Given the description of an element on the screen output the (x, y) to click on. 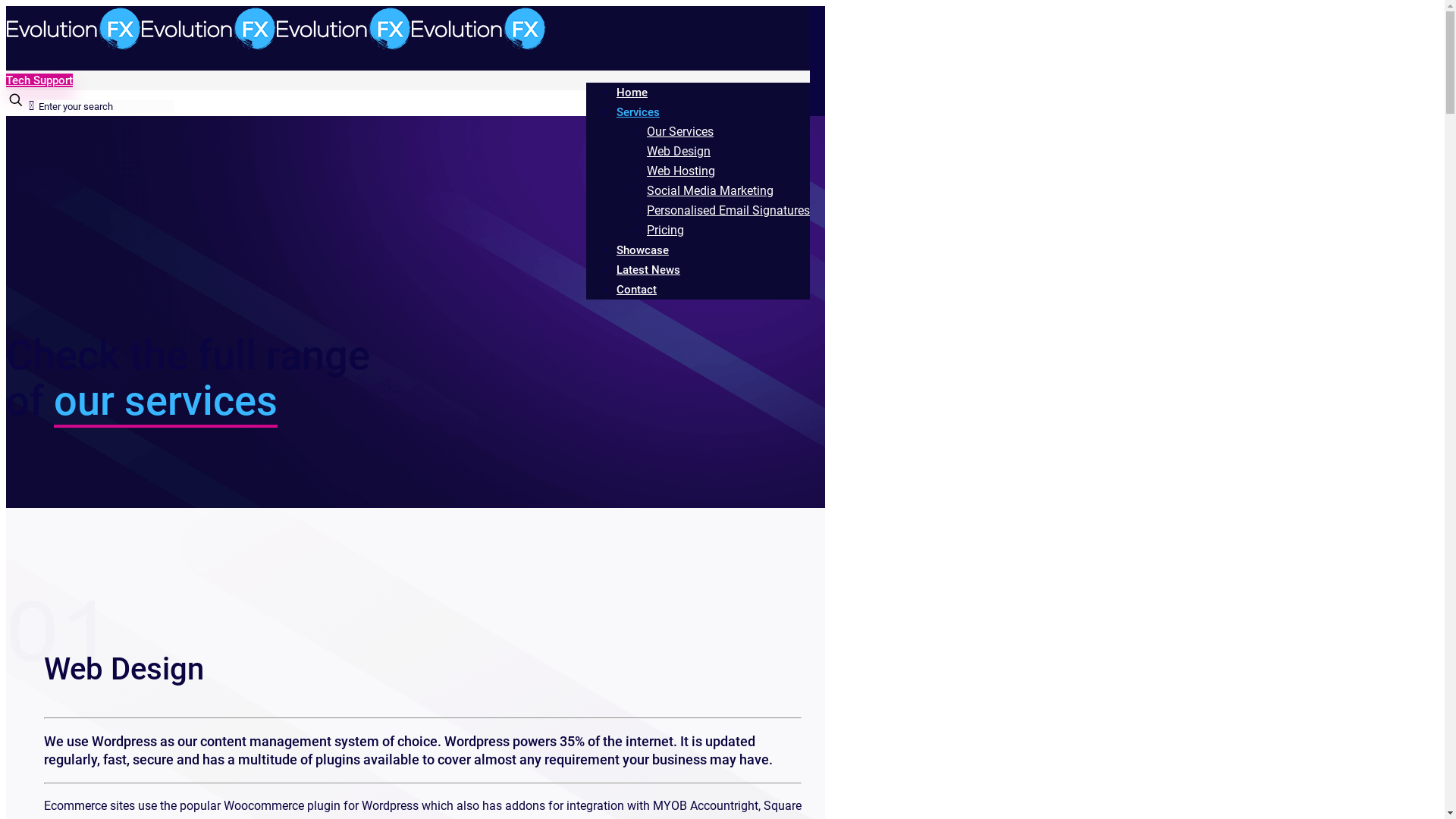
Contact Element type: text (636, 289)
Pricing Element type: text (665, 229)
Web Design Element type: text (678, 151)
Personalised Email Signatures Element type: text (727, 210)
Home Element type: text (631, 92)
Showcase Element type: text (642, 250)
Evolution FX Element type: hover (276, 47)
Our Services Element type: text (679, 131)
Latest News Element type: text (648, 269)
Web Hosting Element type: text (680, 170)
Services Element type: text (637, 112)
Tech Support Element type: text (39, 80)
Social Media Marketing Element type: text (709, 190)
